Given the description of an element on the screen output the (x, y) to click on. 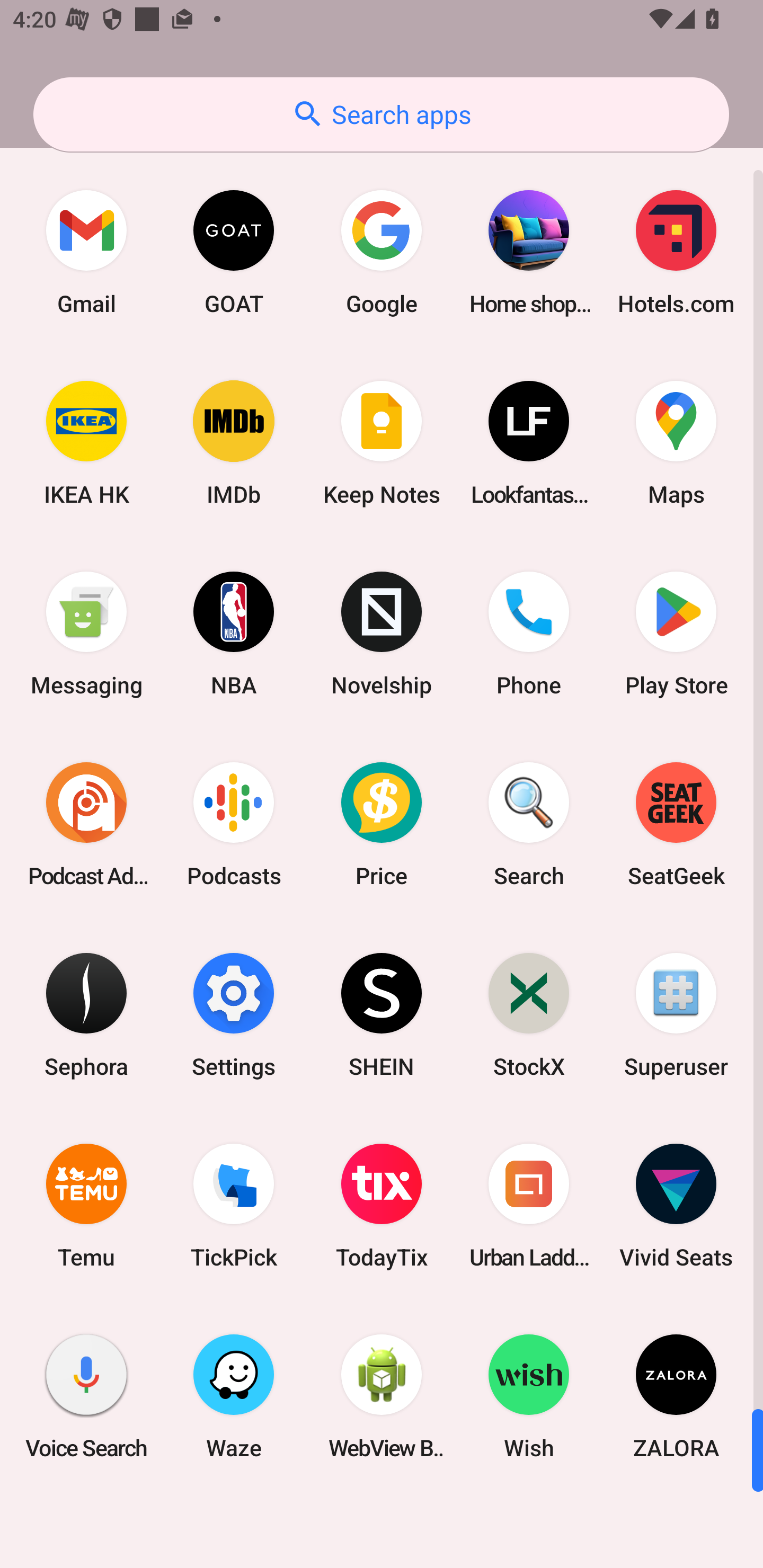
  Search apps (381, 114)
Gmail (86, 252)
GOAT (233, 252)
Google (381, 252)
Home shopping (528, 252)
Hotels.com (676, 252)
IKEA HK (86, 442)
IMDb (233, 442)
Keep Notes (381, 442)
Lookfantastic (528, 442)
Maps (676, 442)
Messaging (86, 633)
NBA (233, 633)
Novelship (381, 633)
Phone (528, 633)
Play Store (676, 633)
Podcast Addict (86, 823)
Podcasts (233, 823)
Price (381, 823)
Search (528, 823)
SeatGeek (676, 823)
Sephora (86, 1014)
Settings (233, 1014)
SHEIN (381, 1014)
StockX (528, 1014)
Superuser (676, 1014)
Temu (86, 1205)
TickPick (233, 1205)
TodayTix (381, 1205)
Urban Ladder (528, 1205)
Vivid Seats (676, 1205)
Voice Search (86, 1396)
Waze (233, 1396)
WebView Browser Tester (381, 1396)
Wish (528, 1396)
ZALORA (676, 1396)
